Given the description of an element on the screen output the (x, y) to click on. 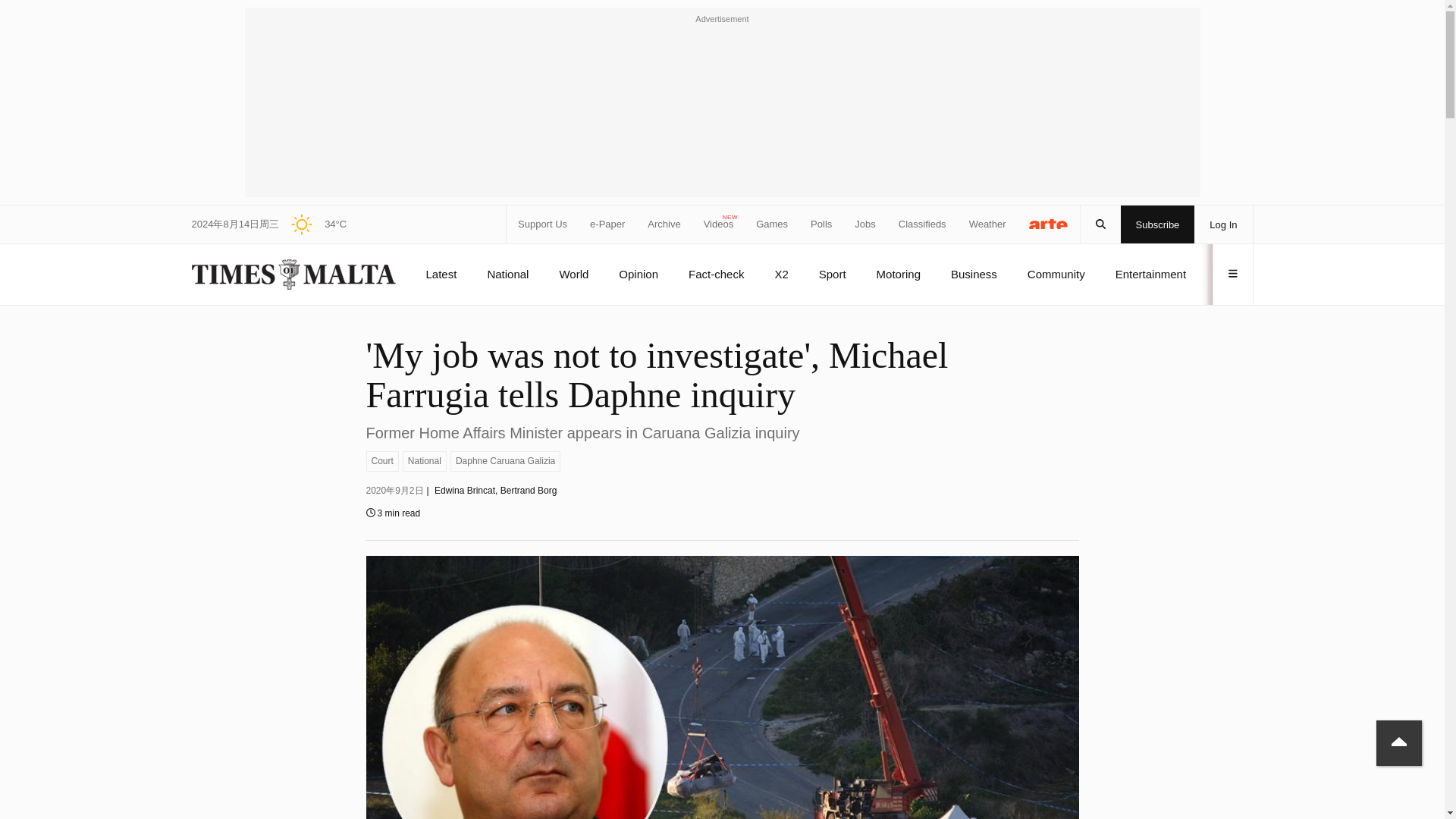
Additional weather information (312, 224)
Court (381, 461)
Community (1055, 274)
Subscribe (1158, 224)
Classifieds (922, 224)
Support Us (542, 224)
Entertainment (1150, 274)
Log In (1222, 224)
